Given the description of an element on the screen output the (x, y) to click on. 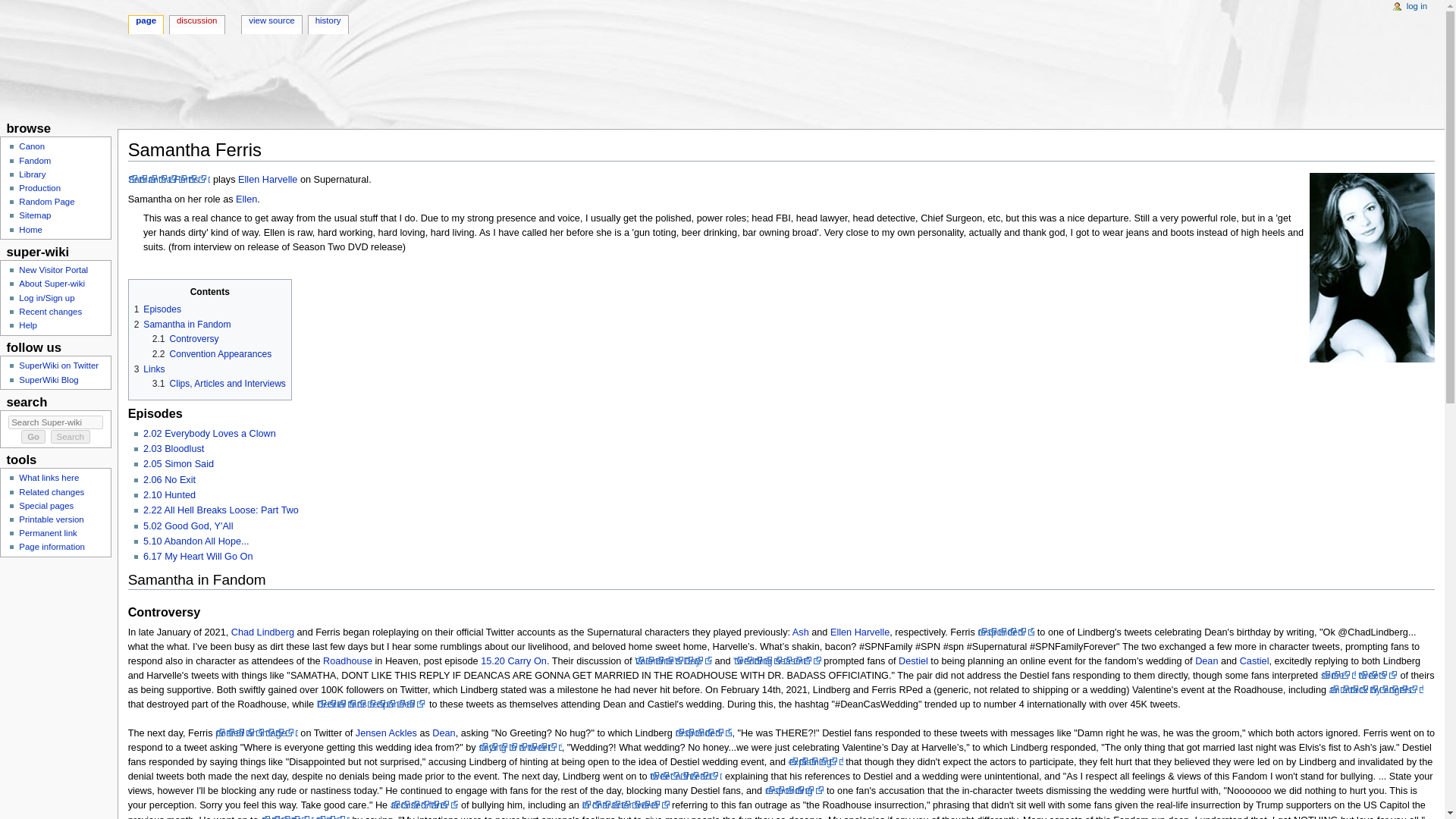
2.06 No Exit (168, 480)
5.02 Good God, Y'All (187, 525)
3 Links (149, 368)
responded (1004, 632)
Destiel fans responded (371, 704)
Dean (1206, 661)
15.20 Carry On (513, 661)
Ellen Harvelle (859, 632)
Valentine's Day (672, 661)
5.10 Abandon All Hope... (195, 541)
